Given the description of an element on the screen output the (x, y) to click on. 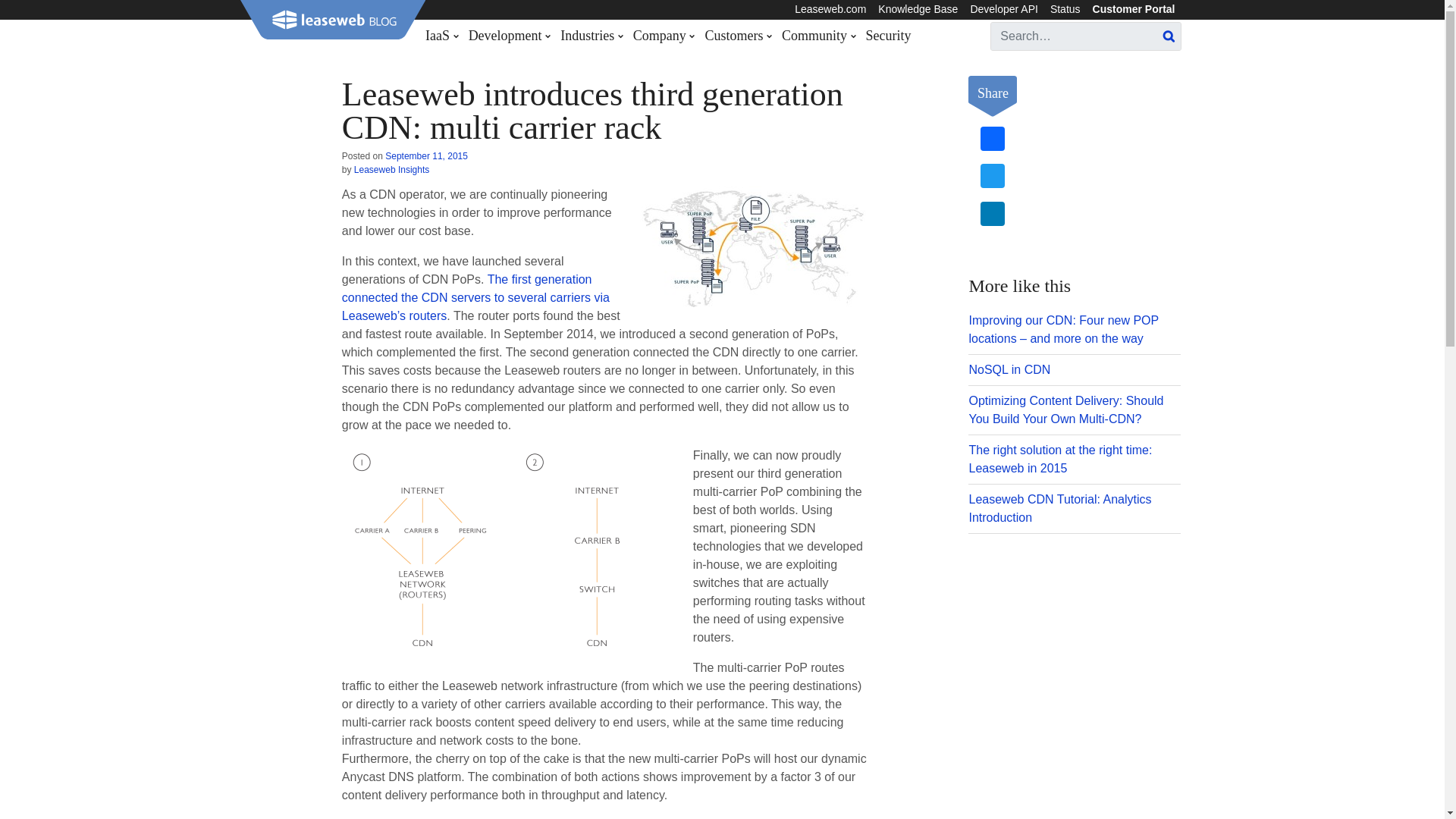
Facebook (991, 140)
Industries (590, 35)
Customer Portal (1133, 9)
IaaS (444, 35)
Twitter (991, 177)
Knowledge Base (917, 9)
LinkedIn (991, 215)
Status (1064, 9)
Development (508, 35)
Developer API (1003, 9)
Leaseweb.com (830, 9)
Company (662, 35)
